Given the description of an element on the screen output the (x, y) to click on. 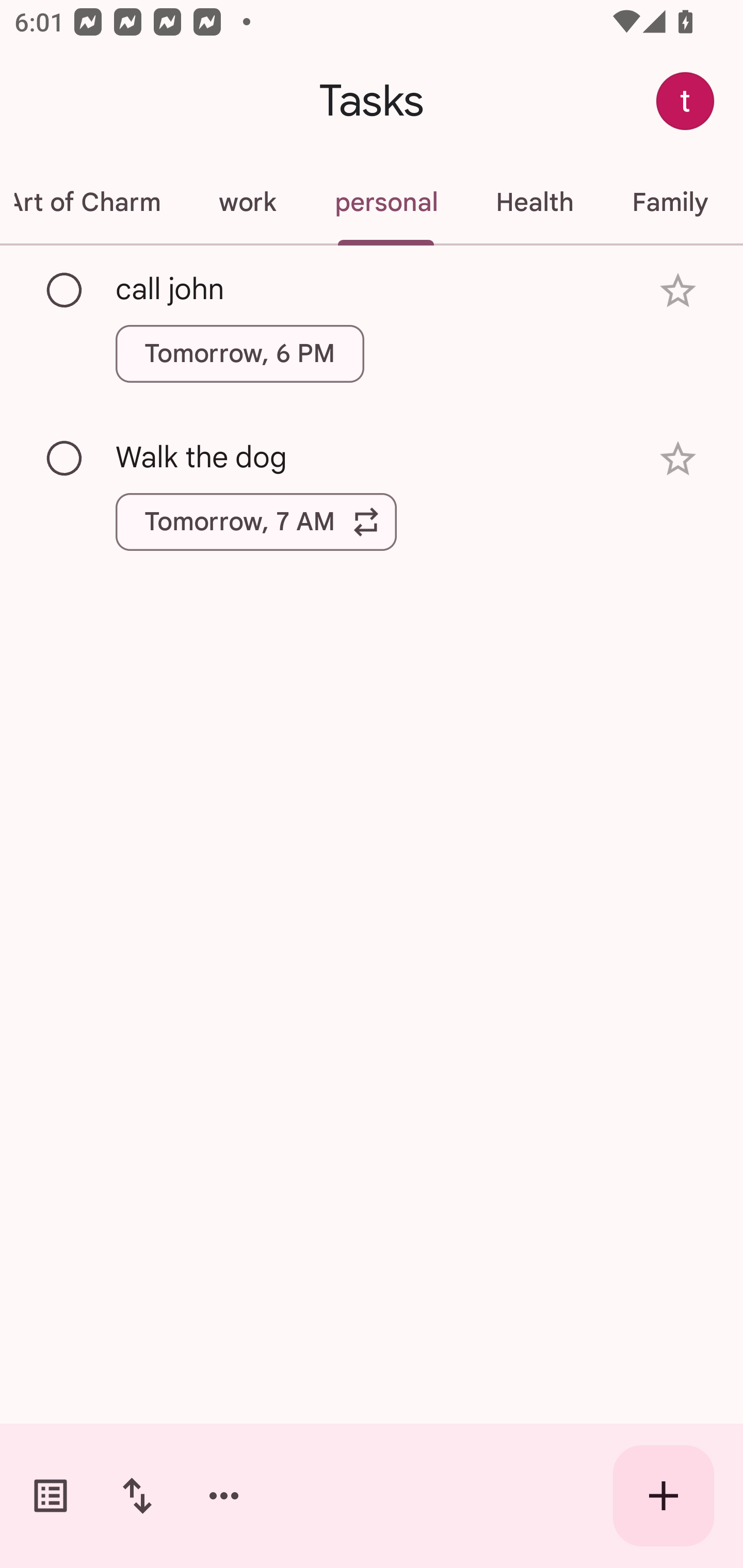
The Art of Charm (94, 202)
work (247, 202)
Health (534, 202)
Family (669, 202)
Add star (677, 290)
Mark as complete (64, 290)
Tomorrow, 6 PM (239, 353)
Add star (677, 458)
Mark as complete (64, 459)
Tomorrow, 7 AM (255, 522)
Switch task lists (50, 1495)
Create new task (663, 1495)
Change sort order (136, 1495)
More options (223, 1495)
